Given the description of an element on the screen output the (x, y) to click on. 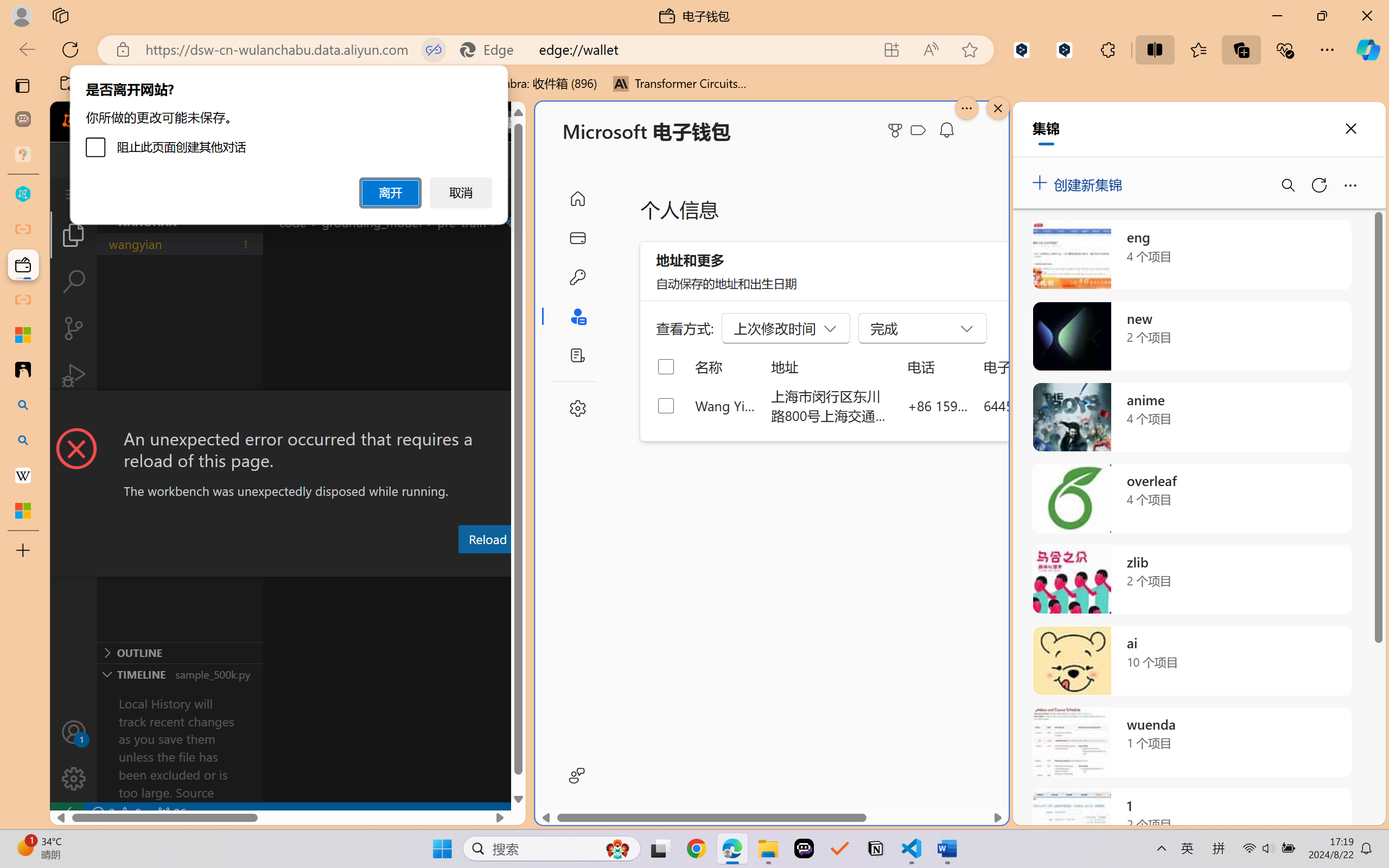
Google Chrome (696, 848)
Timeline Section (179, 673)
Transformer Circuits Thread (680, 83)
No Problems (115, 812)
